Given the description of an element on the screen output the (x, y) to click on. 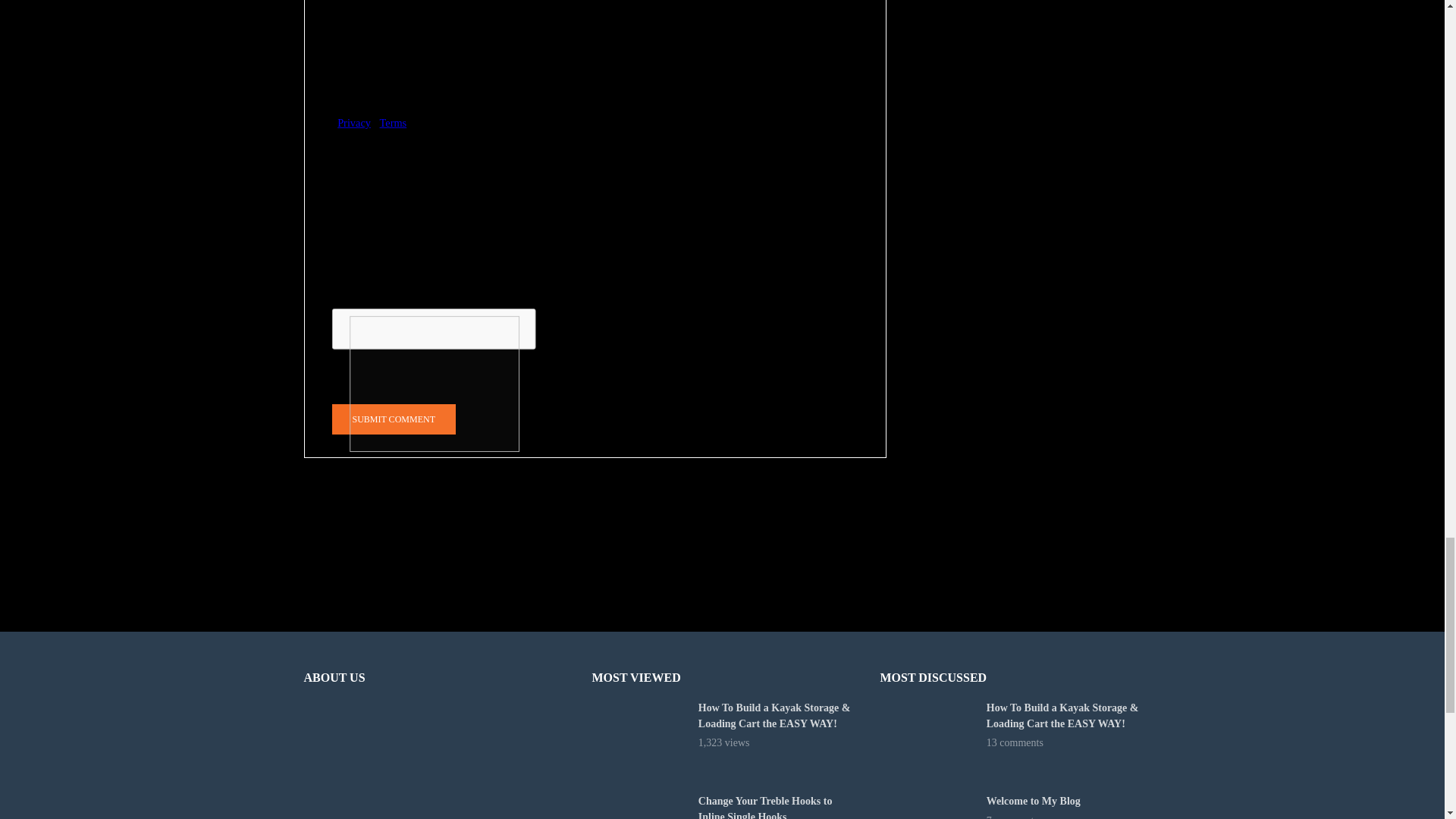
Submit Comment (393, 419)
Change Your Treble Hooks to Inline Single Hooks (637, 806)
